Given the description of an element on the screen output the (x, y) to click on. 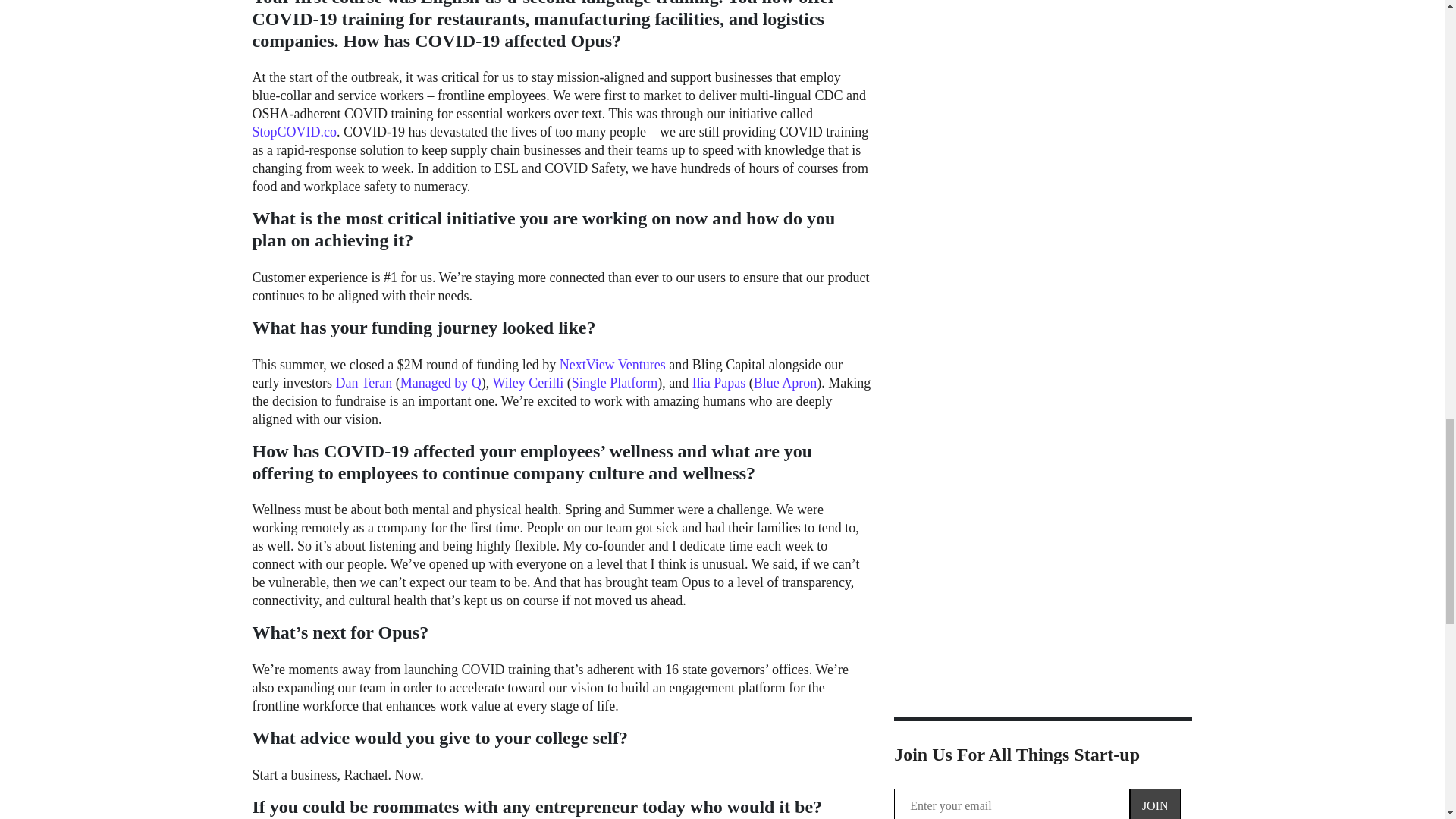
Wiley Cerilli (528, 382)
Managed by Q (440, 382)
Blue Apron (785, 382)
NextView Ventures (612, 364)
Advertisement (1042, 104)
Dan Teran (362, 382)
Single Platform (615, 382)
JOIN (1154, 803)
Ilia Papas (719, 382)
StopCOVID.co (293, 131)
